Given the description of an element on the screen output the (x, y) to click on. 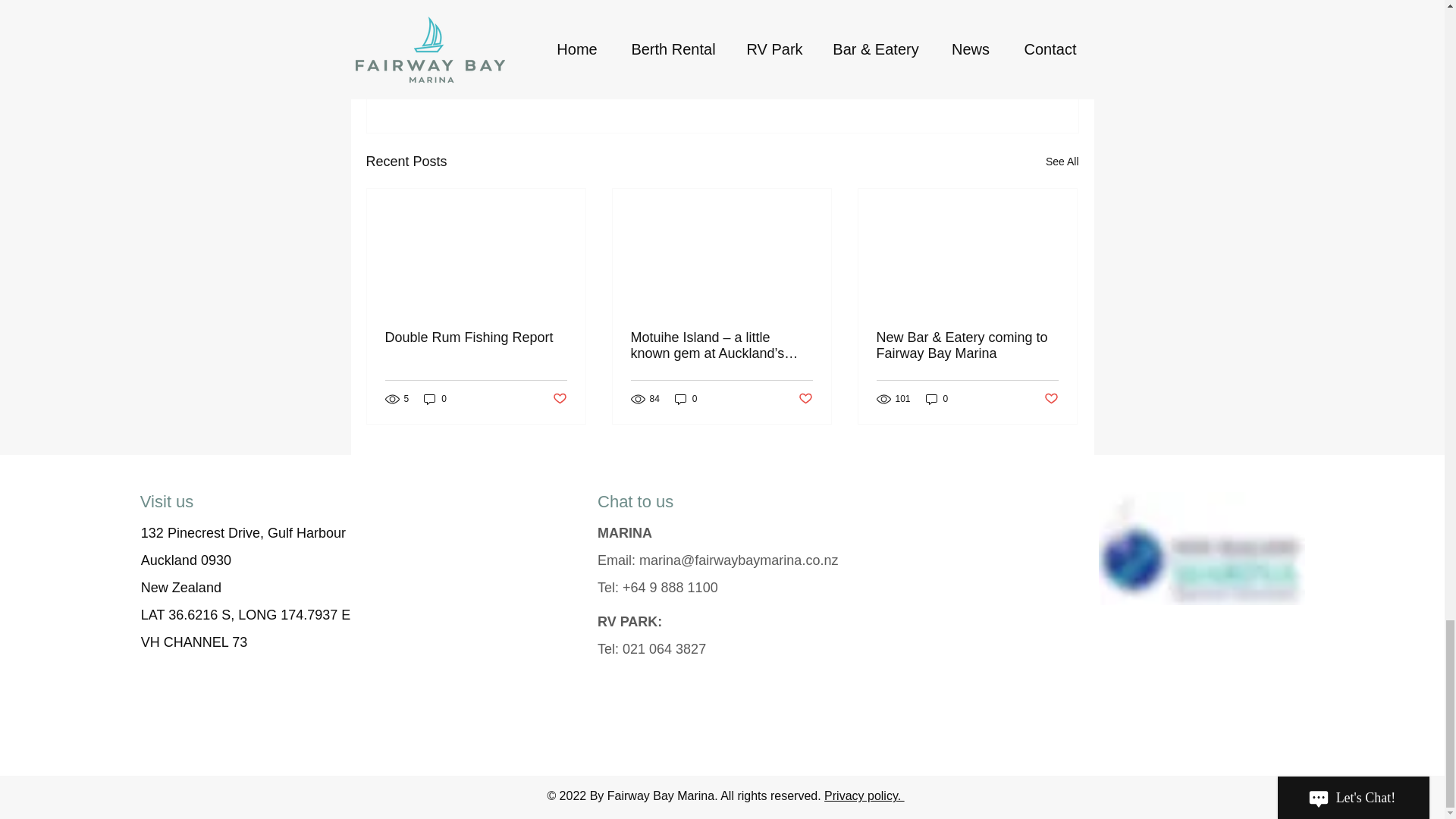
0 (937, 399)
Post not marked as liked (1050, 399)
See All (1061, 161)
0 (435, 399)
Double Rum Fishing Report (476, 337)
Post not marked as liked (804, 399)
Post not marked as liked (558, 399)
Post not marked as liked (995, 78)
0 (685, 399)
Privacy policy.  (864, 795)
